Given the description of an element on the screen output the (x, y) to click on. 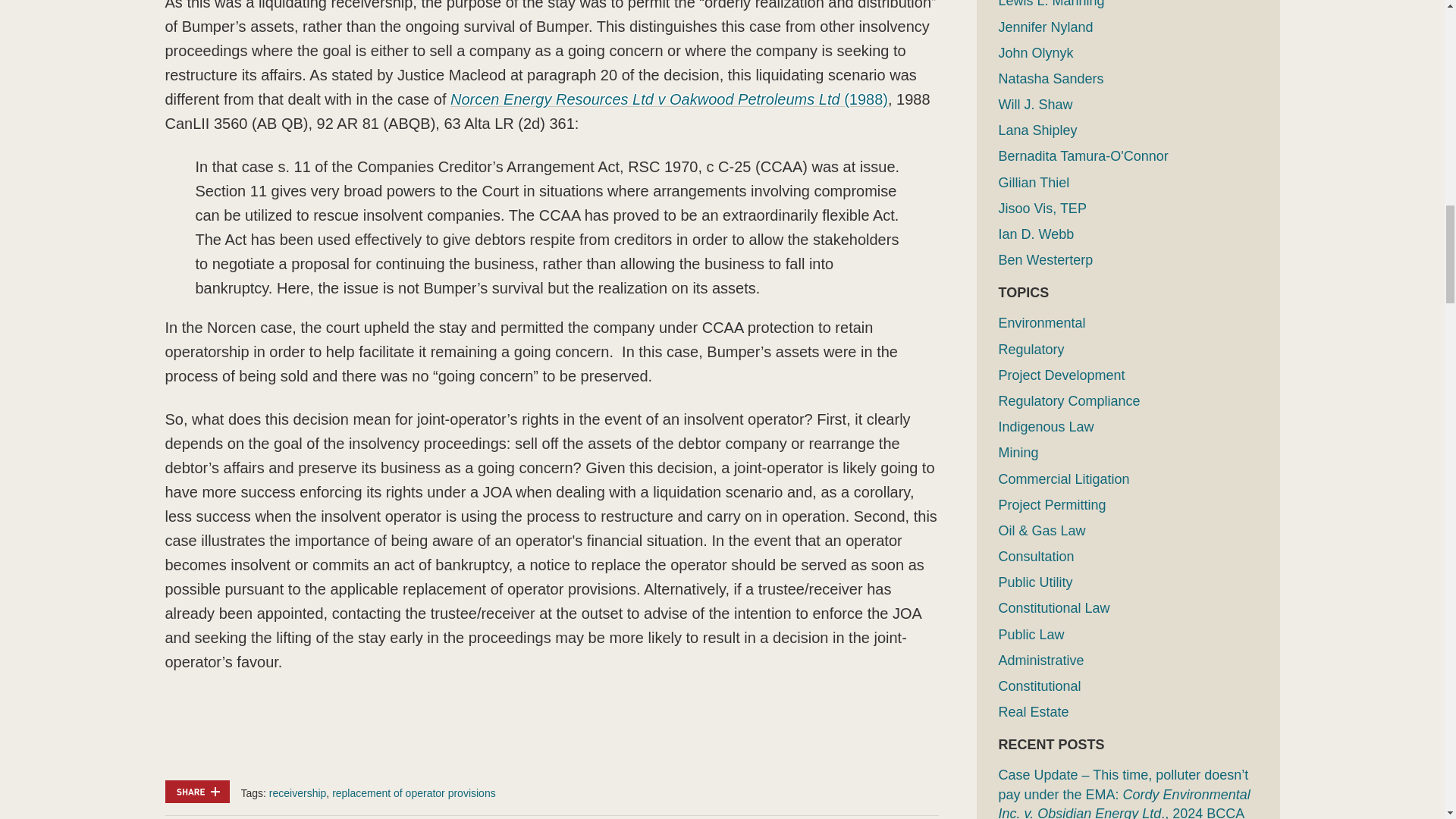
Share (197, 791)
receivership (297, 793)
replacement of operator provisions (413, 793)
